Given the description of an element on the screen output the (x, y) to click on. 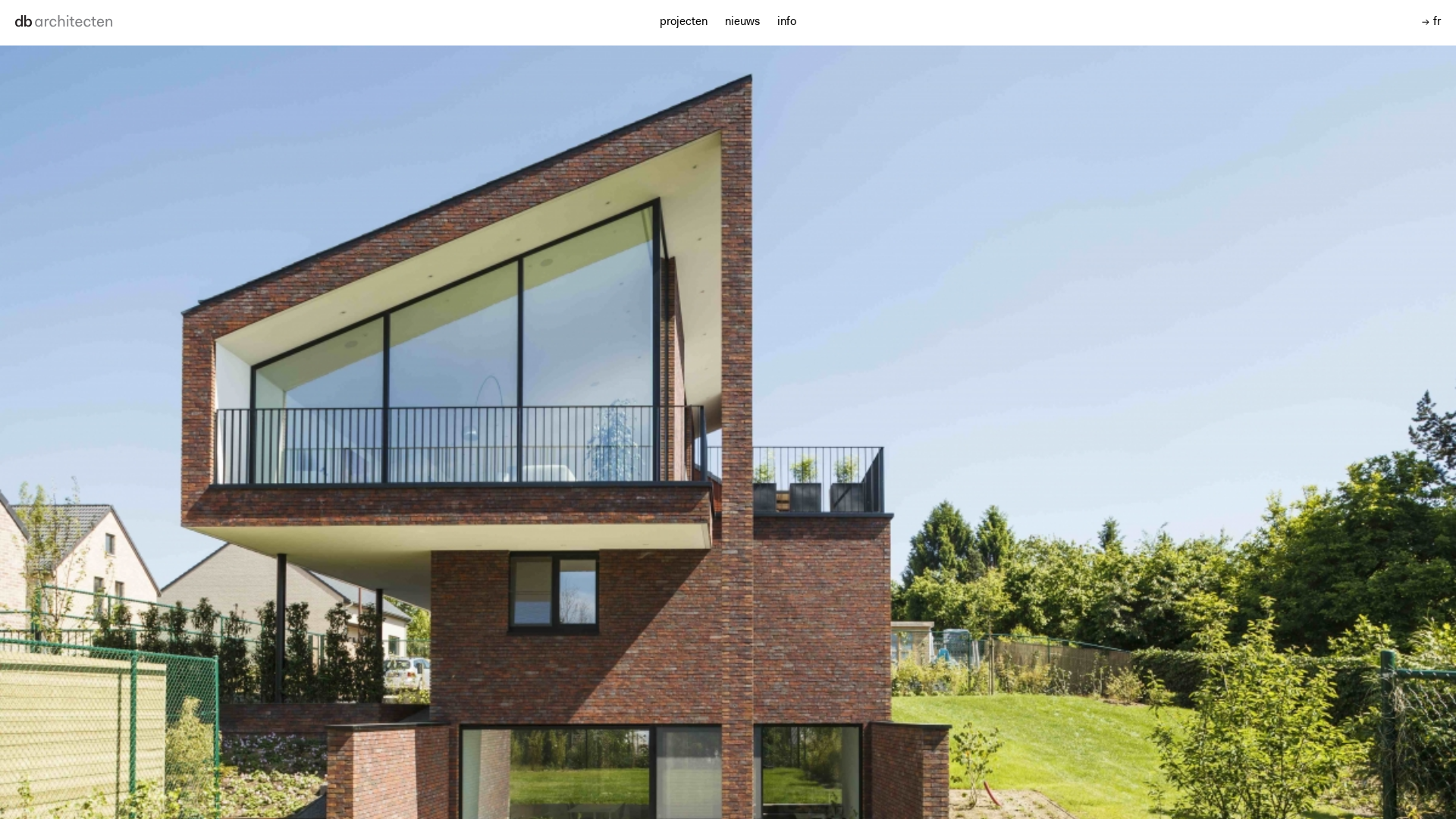
projecten Element type: text (683, 22)
fr Element type: text (1430, 22)
info Element type: text (786, 22)
a Element type: text (71, 22)
nieuws Element type: text (741, 22)
